Given the description of an element on the screen output the (x, y) to click on. 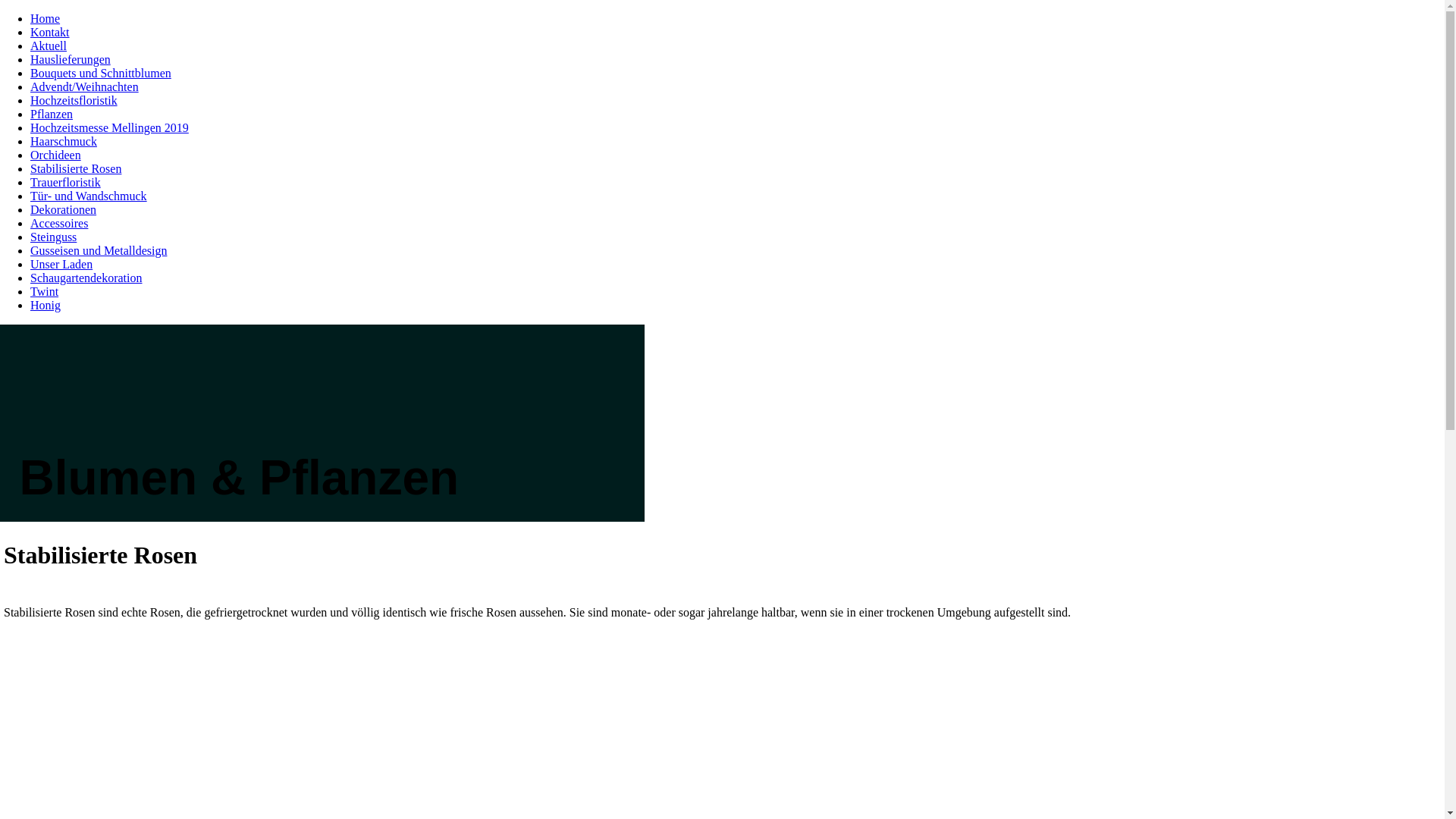
Advendt/Weihnachten Element type: text (84, 86)
Hochzeitsmesse Mellingen 2019 Element type: text (109, 127)
Steinguss Element type: text (53, 236)
Pflanzen Element type: text (51, 113)
Aktuell Element type: text (48, 45)
Haarschmuck Element type: text (63, 140)
Twint Element type: text (44, 291)
Hauslieferungen Element type: text (70, 59)
Stabilisierte Rosen Element type: text (75, 168)
Schaugartendekoration Element type: text (86, 277)
Honig Element type: text (45, 304)
Gusseisen und Metalldesign Element type: text (98, 250)
Accessoires Element type: text (58, 222)
Hochzeitsfloristik Element type: text (73, 100)
Orchideen Element type: text (55, 154)
Unser Laden Element type: text (61, 263)
Dekorationen Element type: text (63, 209)
Bouquets und Schnittblumen Element type: text (100, 72)
Kontakt Element type: text (49, 31)
Trauerfloristik Element type: text (65, 181)
Home Element type: text (44, 18)
